Given the description of an element on the screen output the (x, y) to click on. 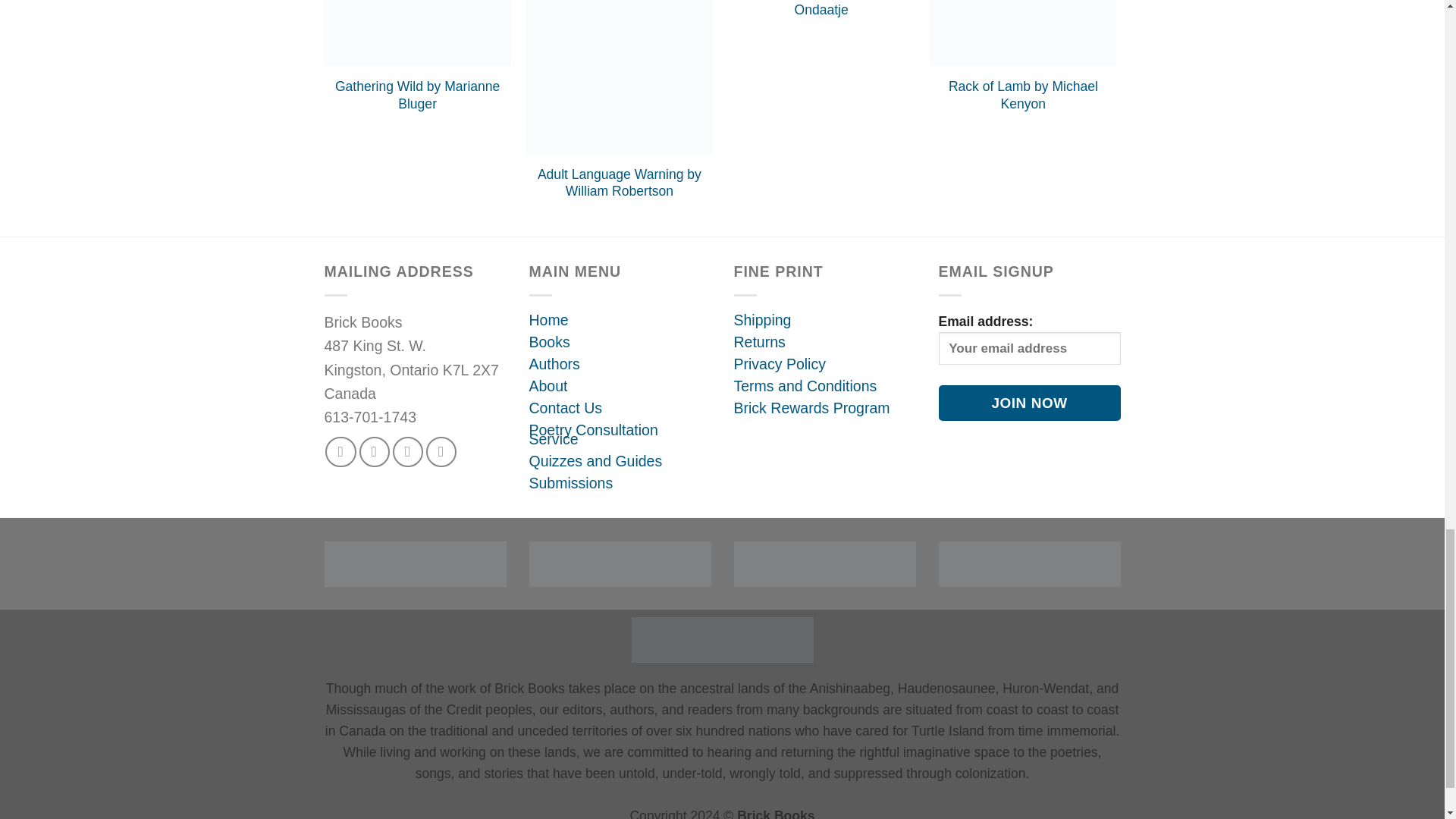
Follow on Twitter (408, 451)
Follow on Facebook (339, 451)
Follow on Instagram (374, 451)
Follow on YouTube (441, 451)
Join Now (1030, 402)
